Given the description of an element on the screen output the (x, y) to click on. 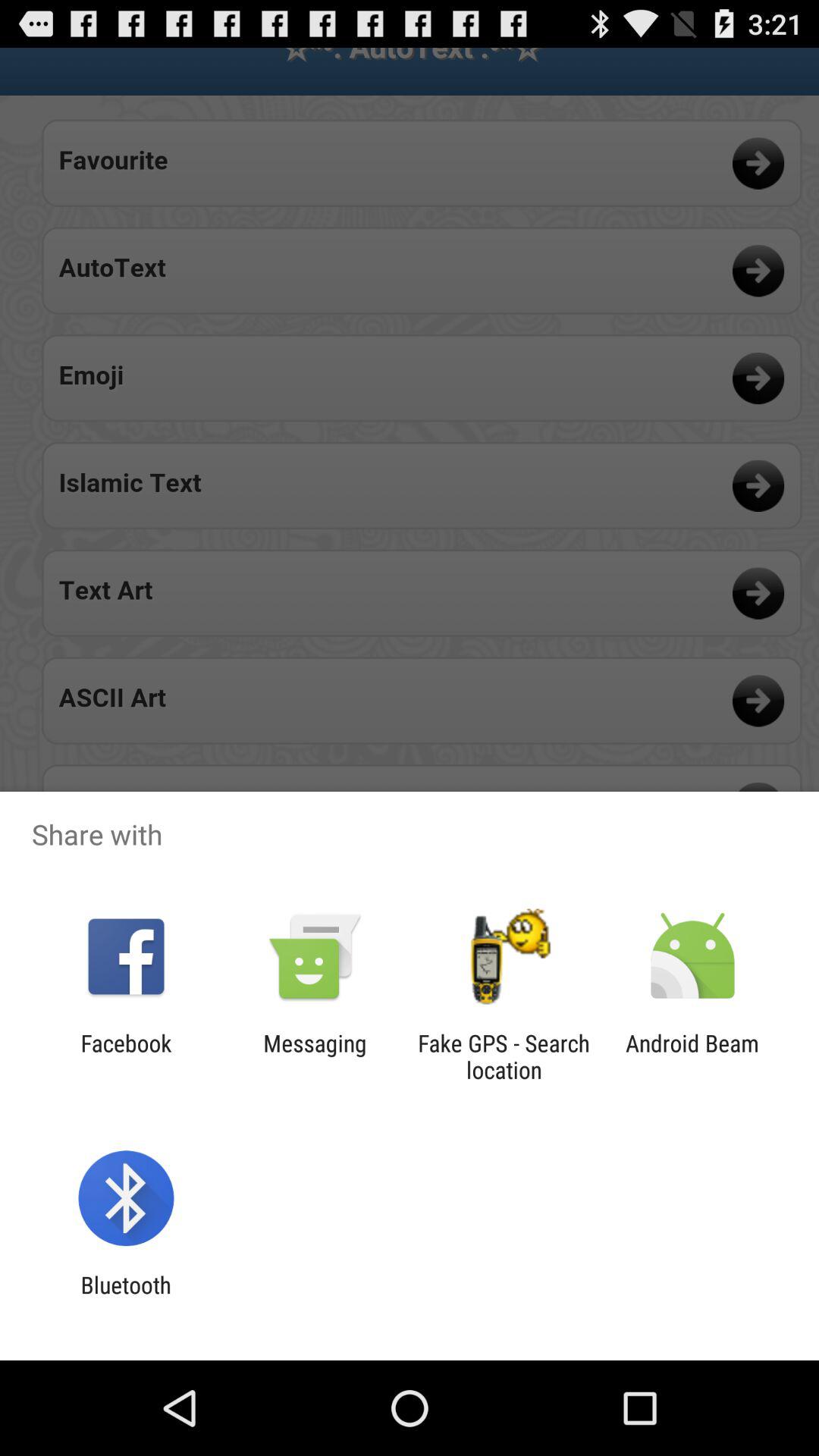
turn on app next to the messaging icon (125, 1056)
